Given the description of an element on the screen output the (x, y) to click on. 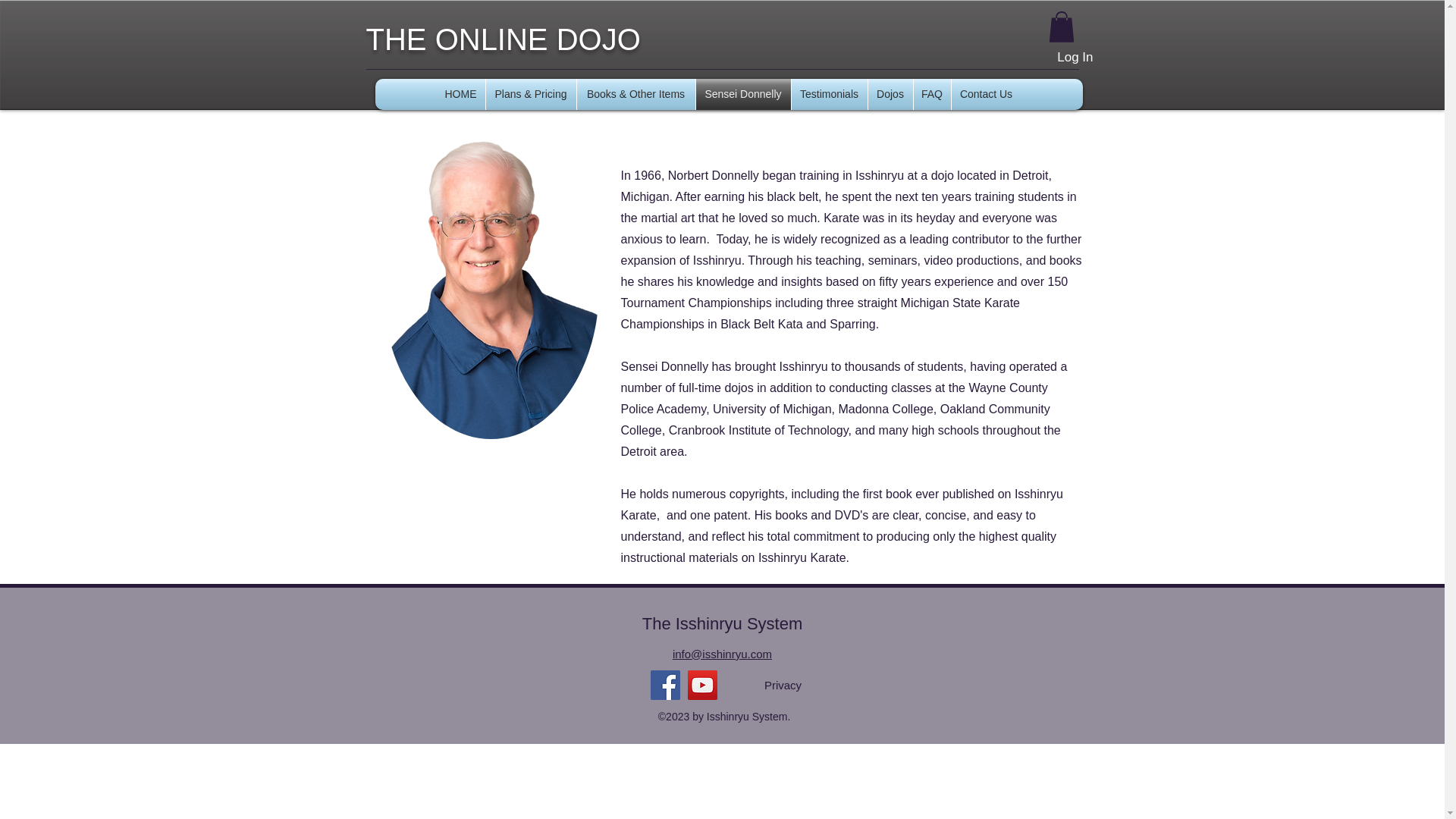
Log In (1074, 57)
Privacy (783, 685)
FAQ (931, 93)
Sensei Donnelly (742, 93)
Contact Us (985, 93)
HOME (460, 93)
Dojos (889, 93)
Testimonials (829, 93)
